Given the description of an element on the screen output the (x, y) to click on. 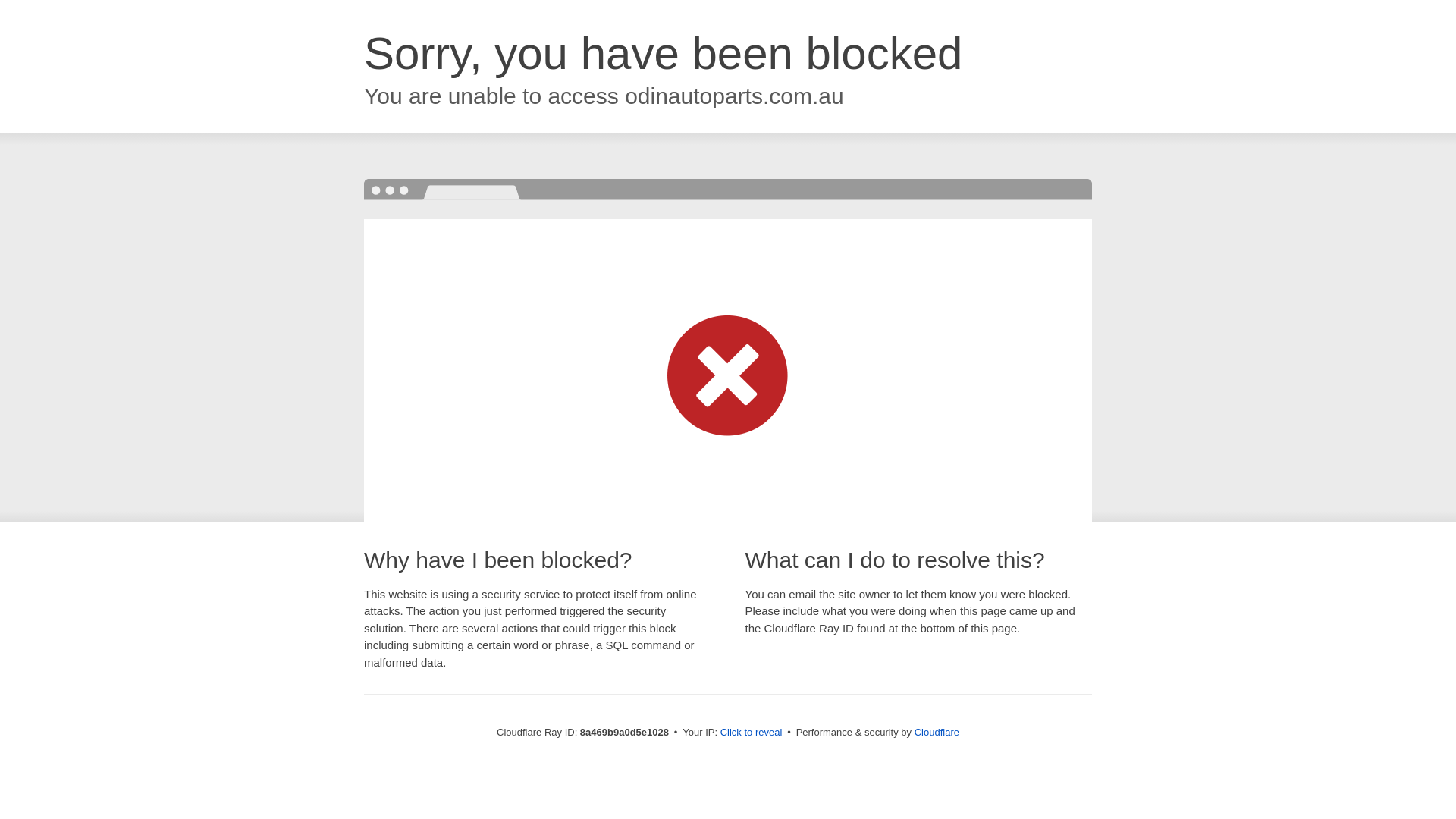
Click to reveal (751, 732)
Cloudflare (936, 731)
